Given the description of an element on the screen output the (x, y) to click on. 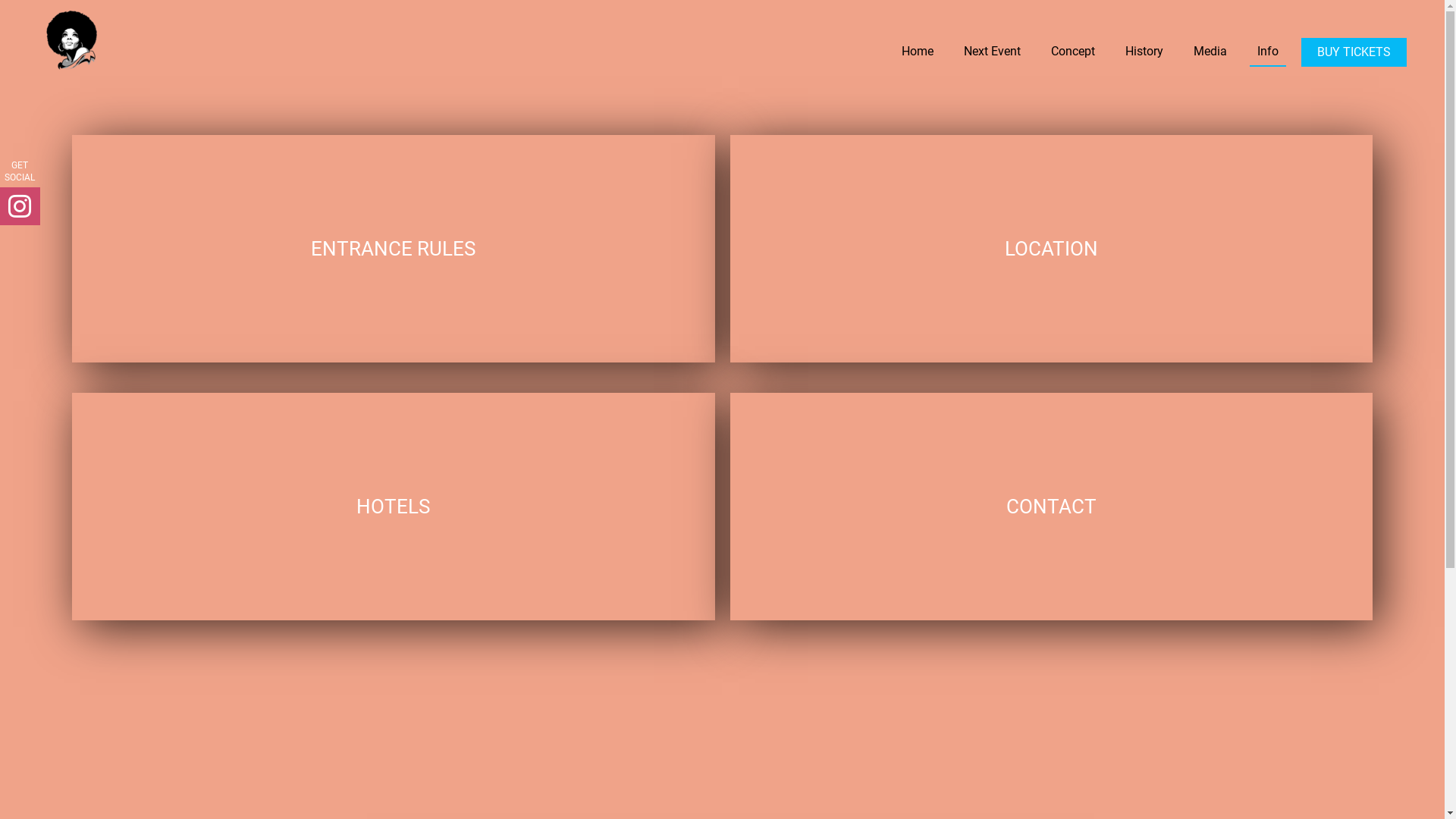
CONTACT Element type: text (1050, 506)
Next Event Element type: text (992, 51)
Concept Element type: text (1072, 51)
Info Element type: text (1267, 51)
LOCATION Element type: text (1050, 248)
BUY TICKETS Element type: text (1353, 51)
HOTELS Element type: text (393, 506)
Media Element type: text (1210, 51)
History Element type: text (1143, 51)
Home Element type: text (917, 51)
ENTRANCE RULES Element type: text (393, 248)
